Given the description of an element on the screen output the (x, y) to click on. 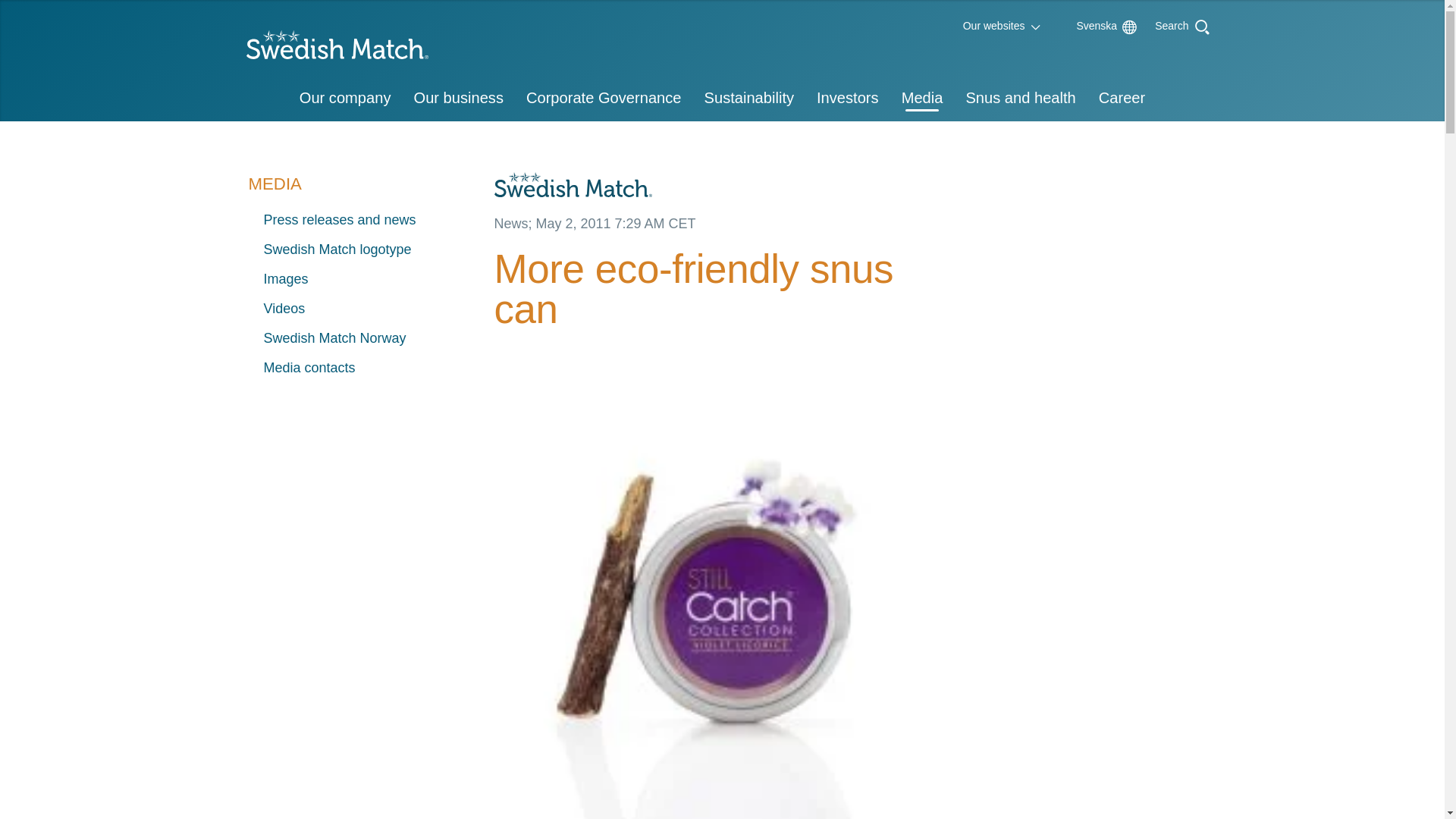
Our business (457, 98)
Swedish Match (331, 48)
Search (1171, 23)
Svenska (1089, 25)
Our company (345, 98)
Our websites (994, 25)
